Given the description of an element on the screen output the (x, y) to click on. 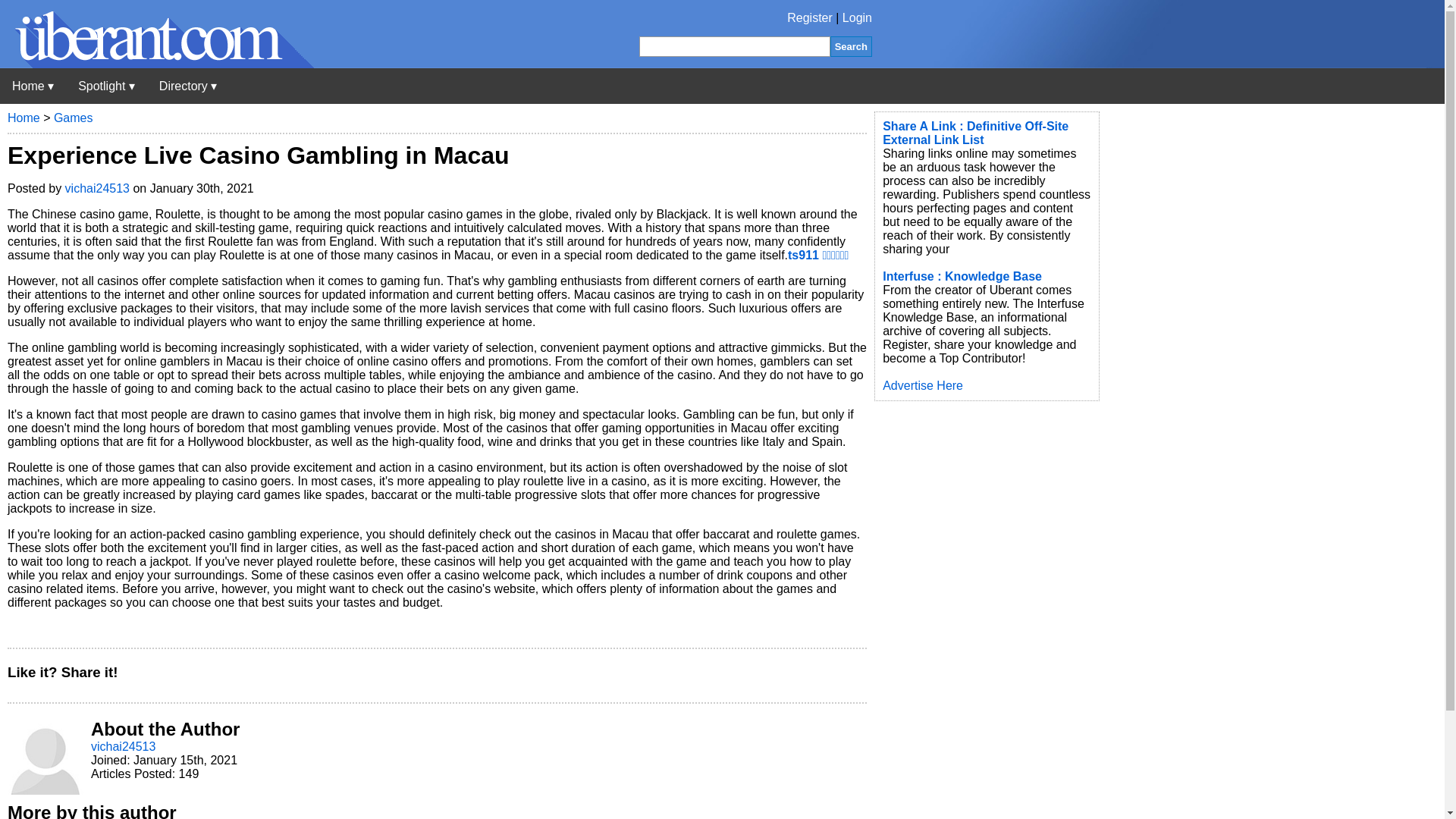
Register (809, 17)
Search (850, 46)
Uberant (32, 85)
Uberant (157, 63)
Login (857, 17)
Search (850, 46)
